Given the description of an element on the screen output the (x, y) to click on. 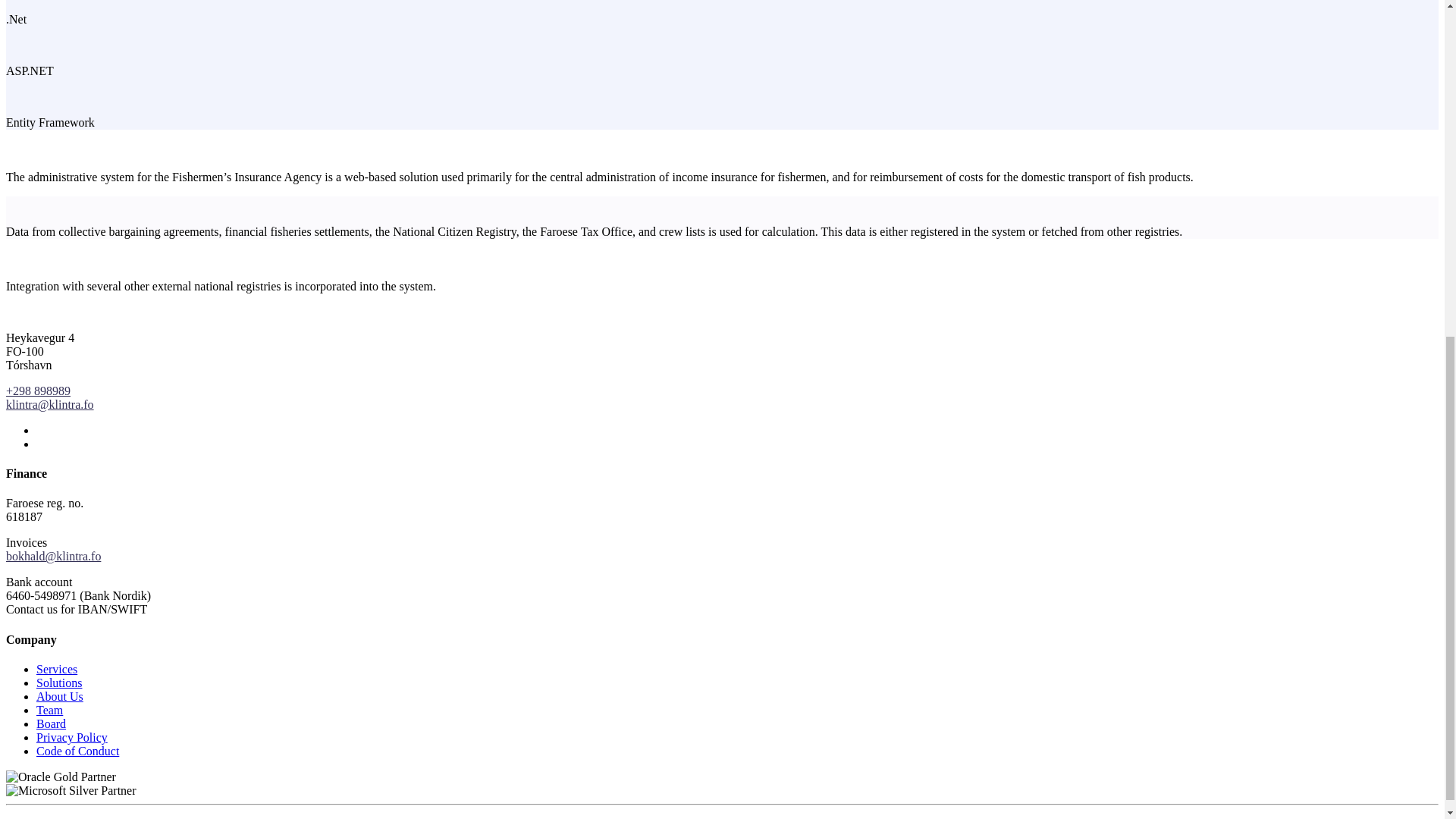
Services (56, 668)
Privacy Policy (71, 737)
About Us (59, 696)
Solutions (58, 682)
Board (50, 723)
Team (49, 709)
Code of Conduct (77, 750)
